Given the description of an element on the screen output the (x, y) to click on. 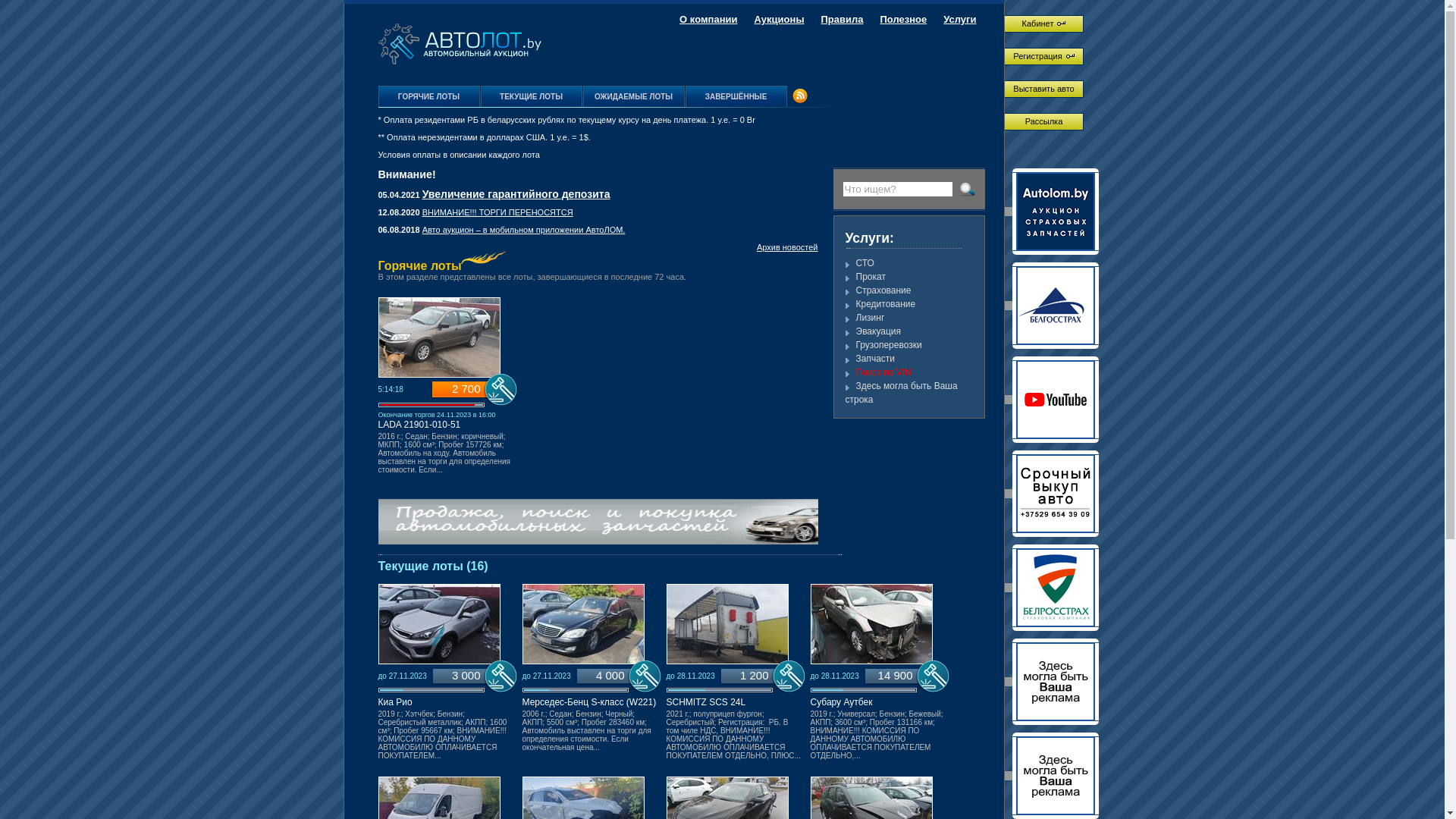
SCHMITZ SCS 24L Element type: text (705, 701)
LADA 21901-010-51 Element type: text (418, 424)
